Given the description of an element on the screen output the (x, y) to click on. 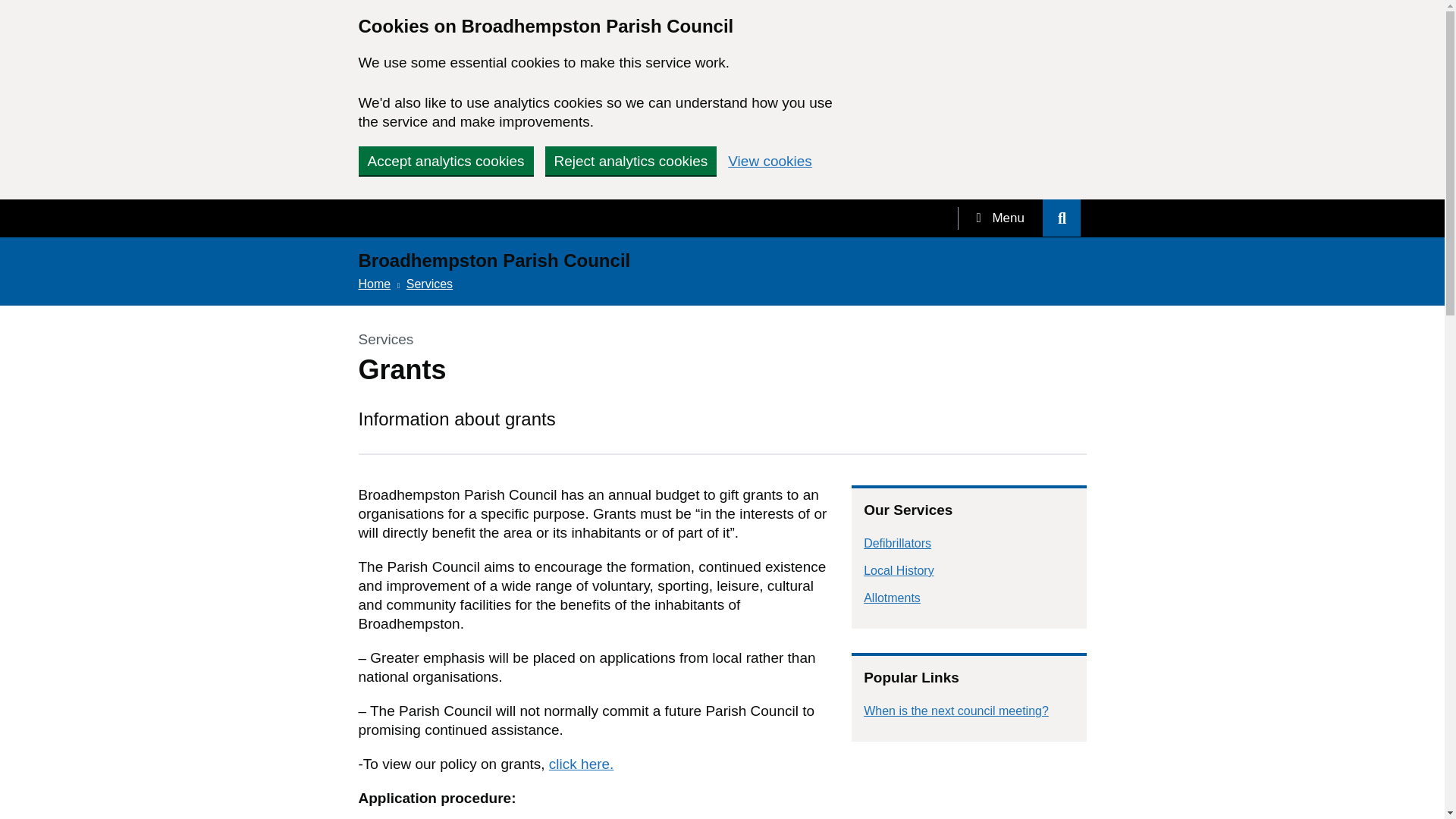
When is the next council meeting? (955, 710)
Menu (1000, 218)
click here. (581, 763)
Skip to main content (11, 7)
Local History (898, 570)
Home (374, 283)
Accept analytics cookies (445, 160)
Reject analytics cookies (630, 160)
View cookies (770, 160)
Services (429, 283)
Allotments (891, 597)
Broadhempston Parish Council (494, 262)
Defibrillators (897, 543)
